Given the description of an element on the screen output the (x, y) to click on. 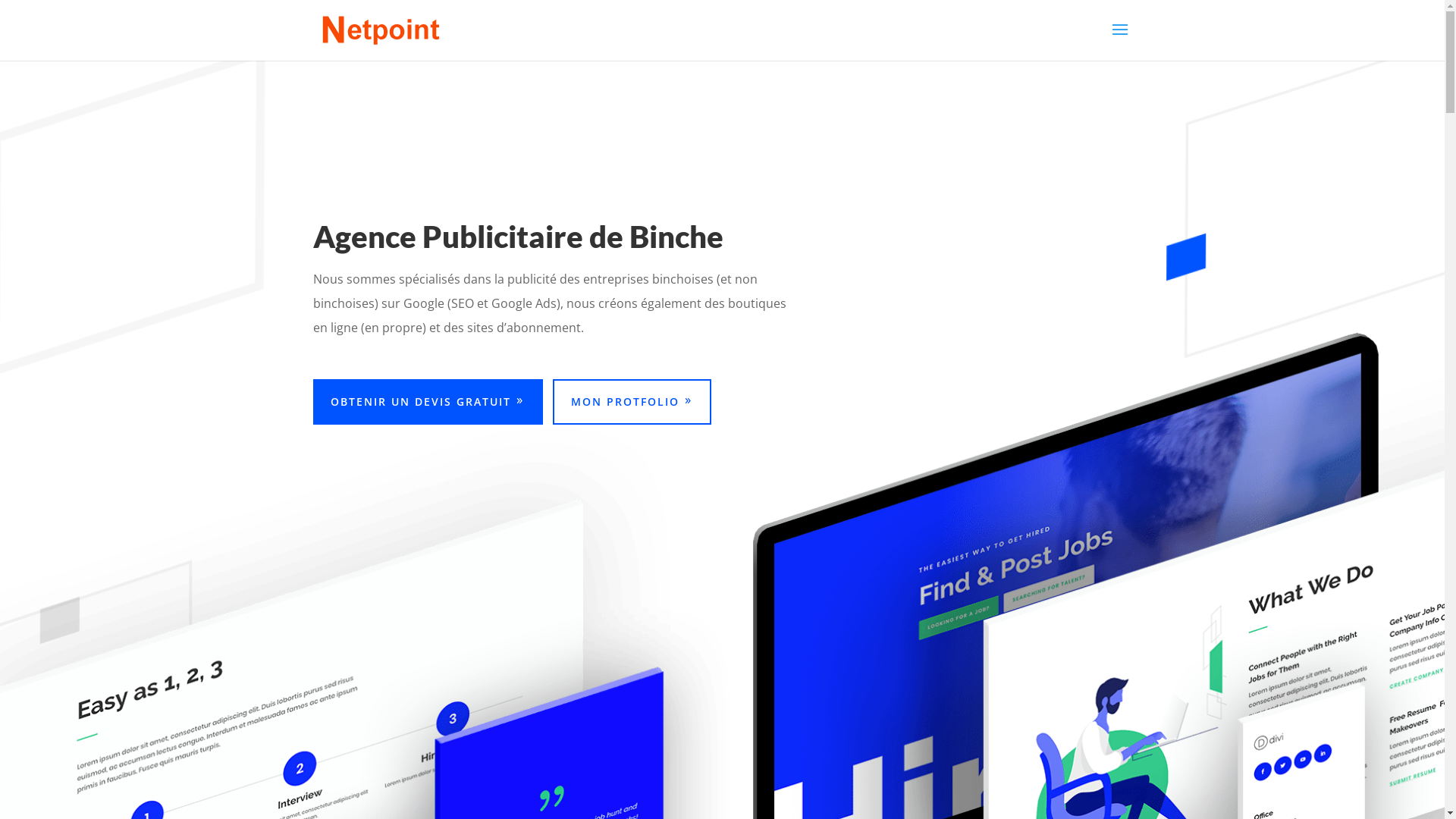
OBTENIR UN DEVIS GRATUIT Element type: text (427, 401)
MON PROTFOLIO Element type: text (631, 401)
